Given the description of an element on the screen output the (x, y) to click on. 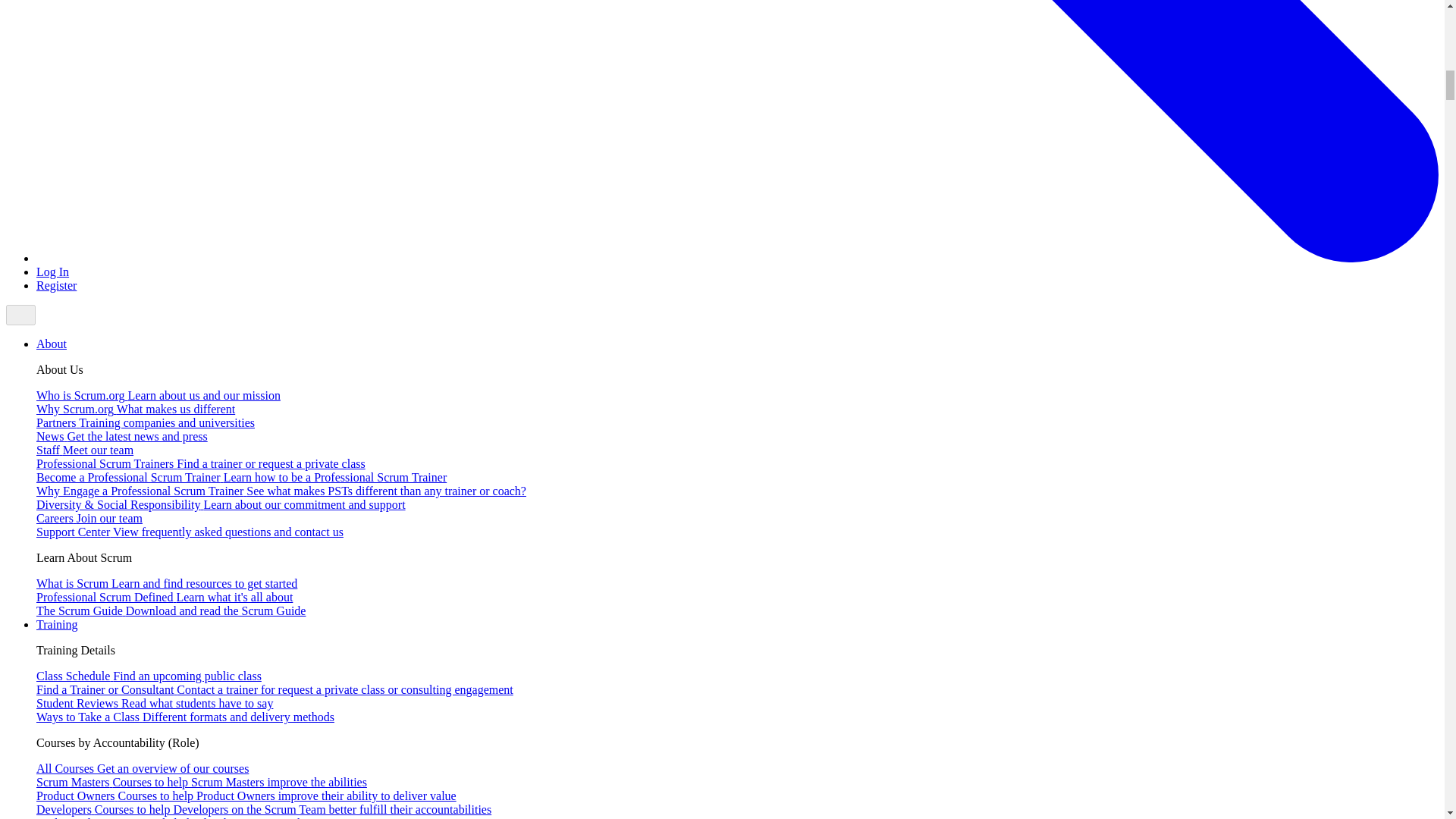
Careers Join our team (89, 517)
Log In (52, 271)
Why Scrum.org What makes us different (135, 408)
Ways to Take a Class Different formats and delivery methods (185, 716)
News Get the latest news and press (122, 436)
Who is Scrum.org Learn about us and our mission (158, 395)
Training (57, 624)
